Given the description of an element on the screen output the (x, y) to click on. 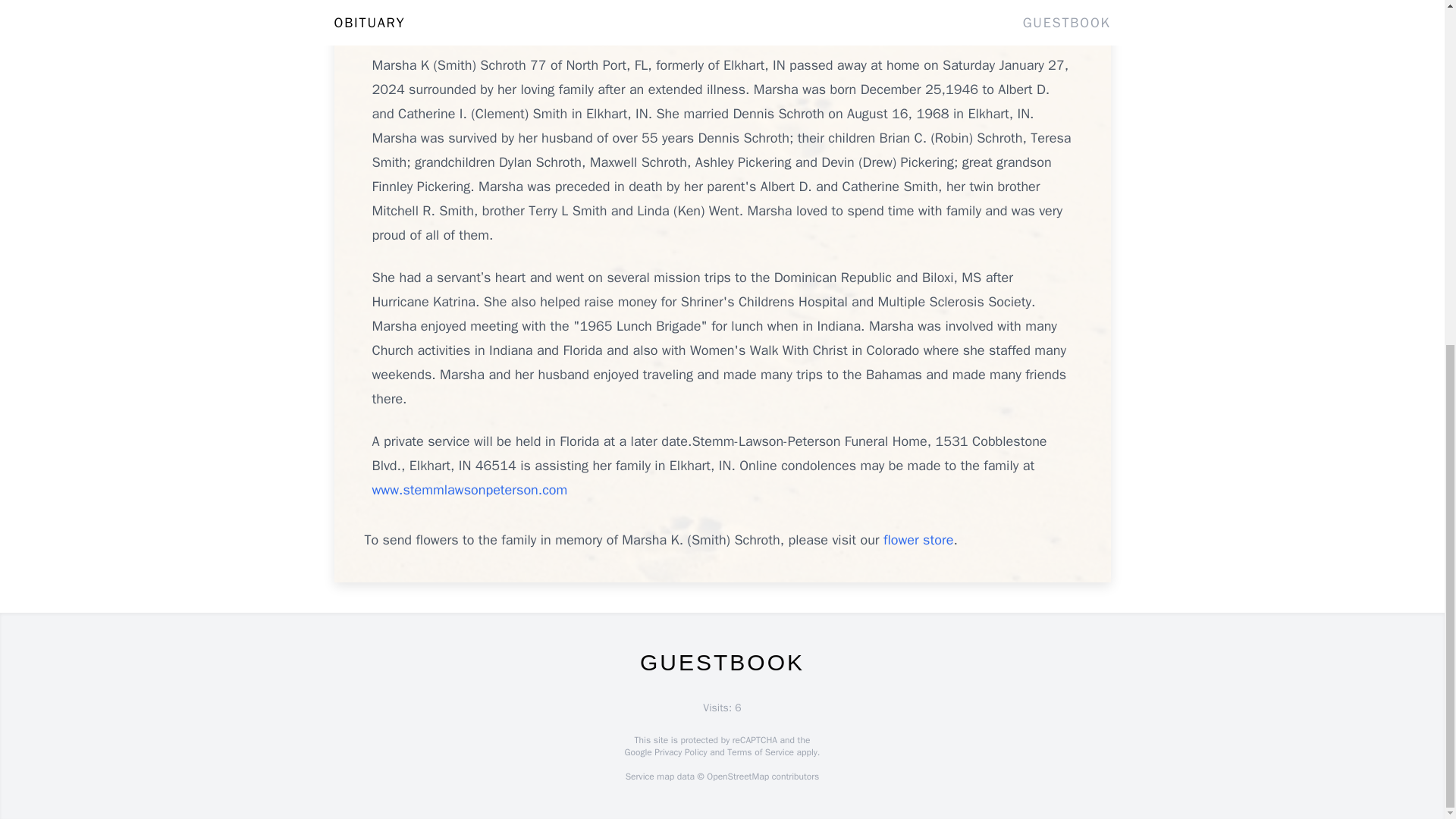
Terms of Service (759, 752)
flower store (918, 539)
www.stemmlawsonpeterson.com (469, 489)
OpenStreetMap (737, 776)
Privacy Policy (679, 752)
